Given the description of an element on the screen output the (x, y) to click on. 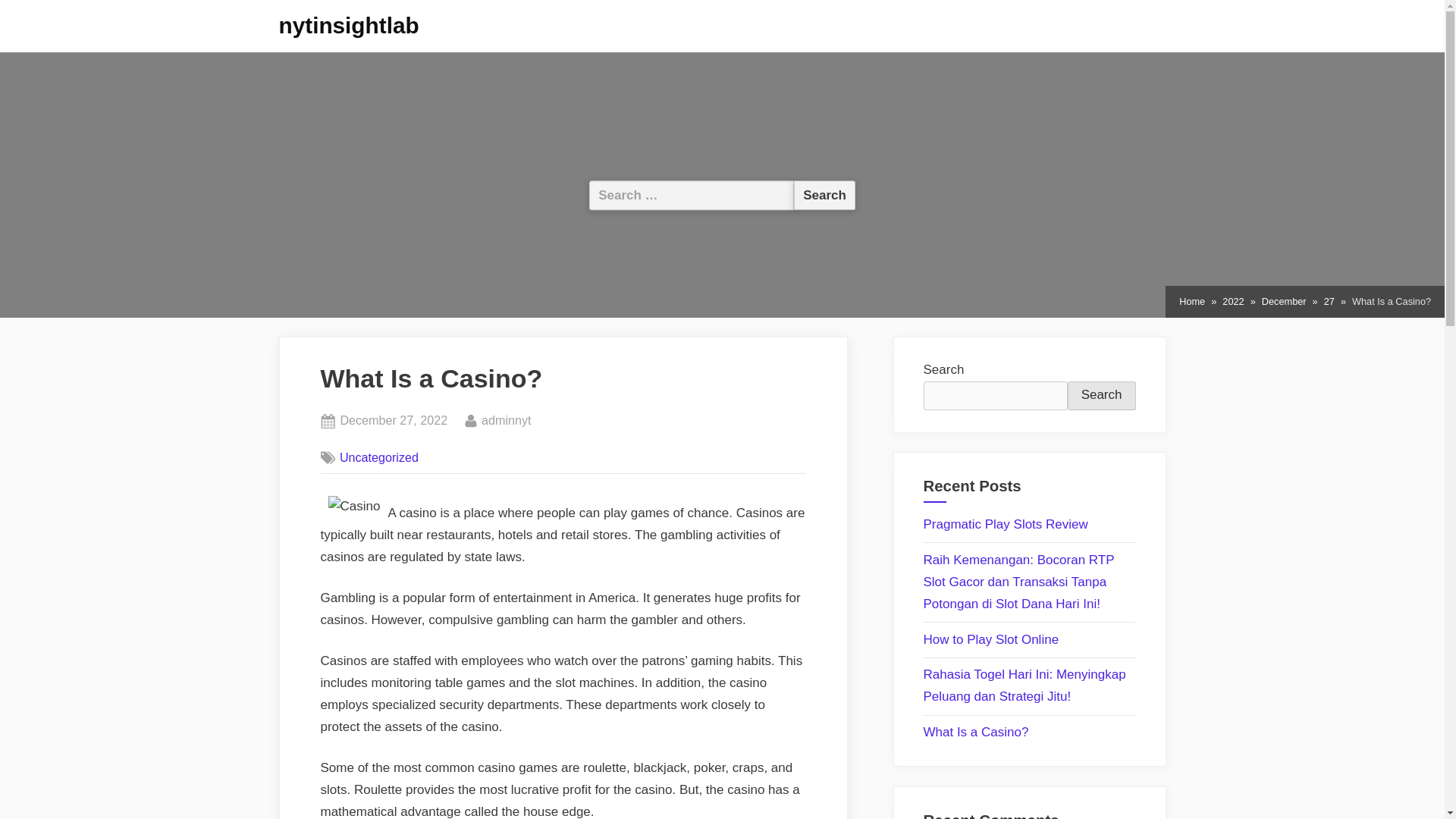
Search (824, 194)
2022 (1233, 301)
December (392, 420)
What Is a Casino? (1284, 301)
Home (976, 731)
Search (1192, 301)
